Given the description of an element on the screen output the (x, y) to click on. 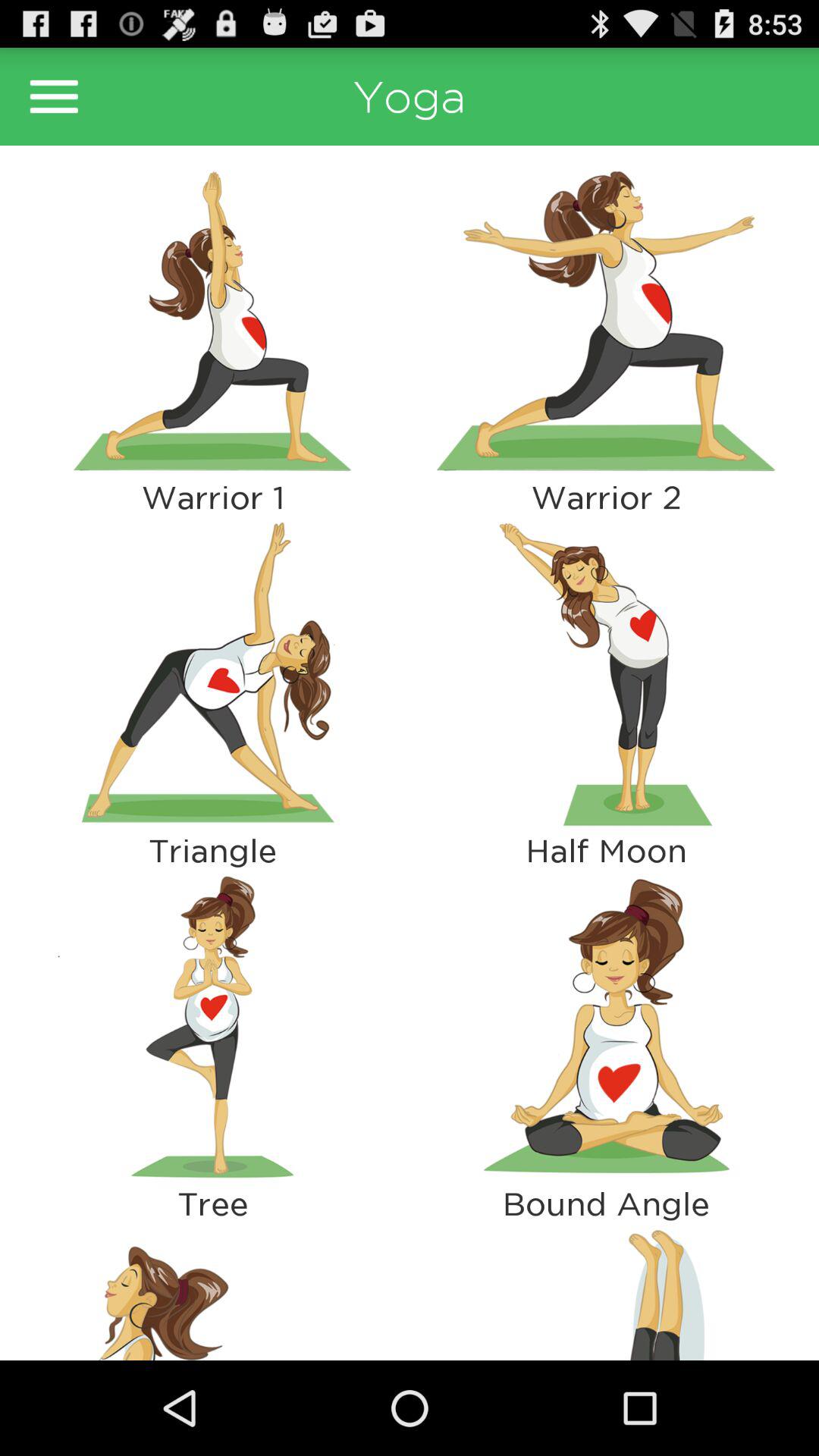
click the image (212, 320)
